Given the description of an element on the screen output the (x, y) to click on. 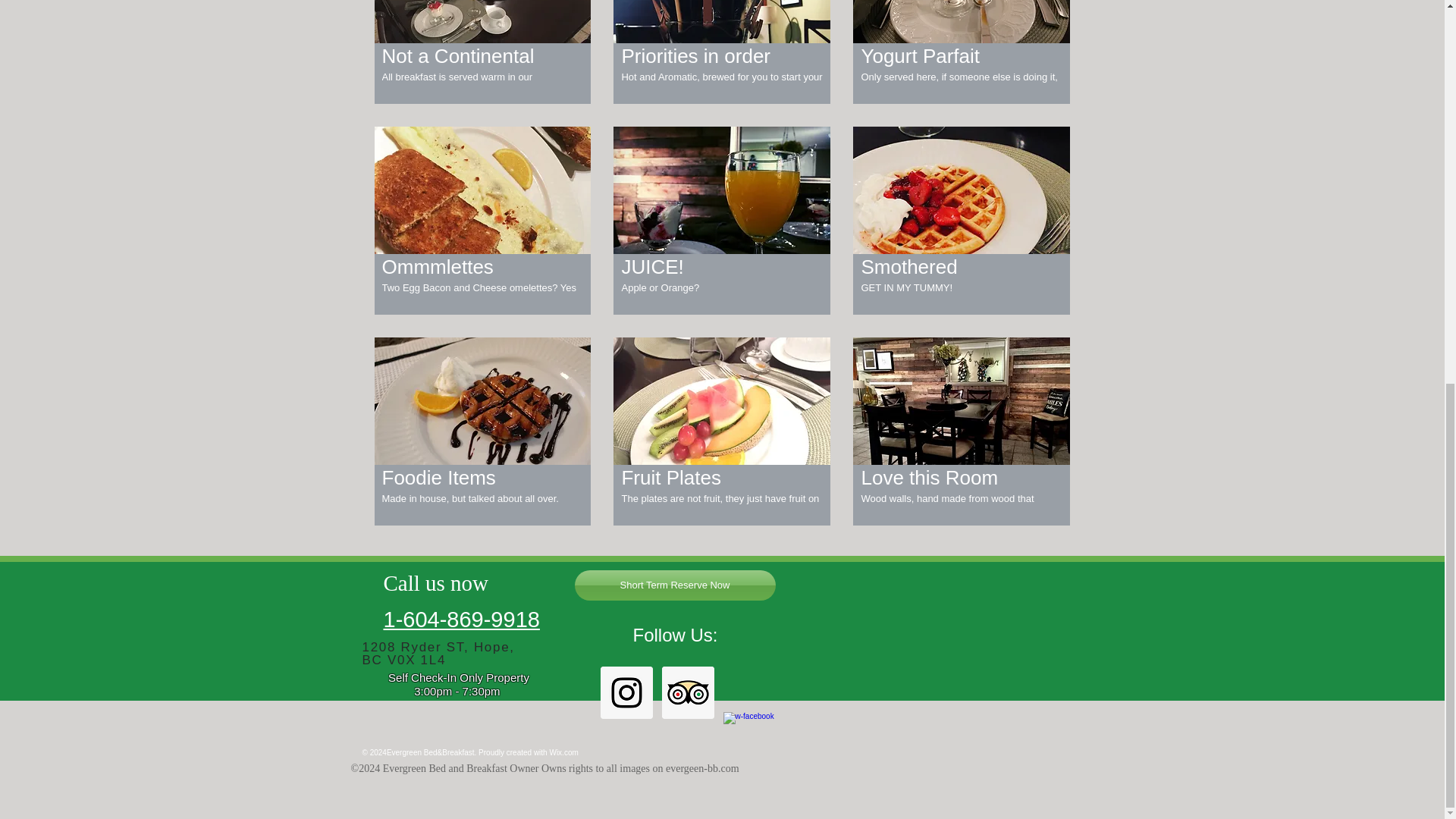
1-604-869-9918 (462, 619)
Wix.com (563, 752)
Short Term Reserve Now (675, 585)
